Given the description of an element on the screen output the (x, y) to click on. 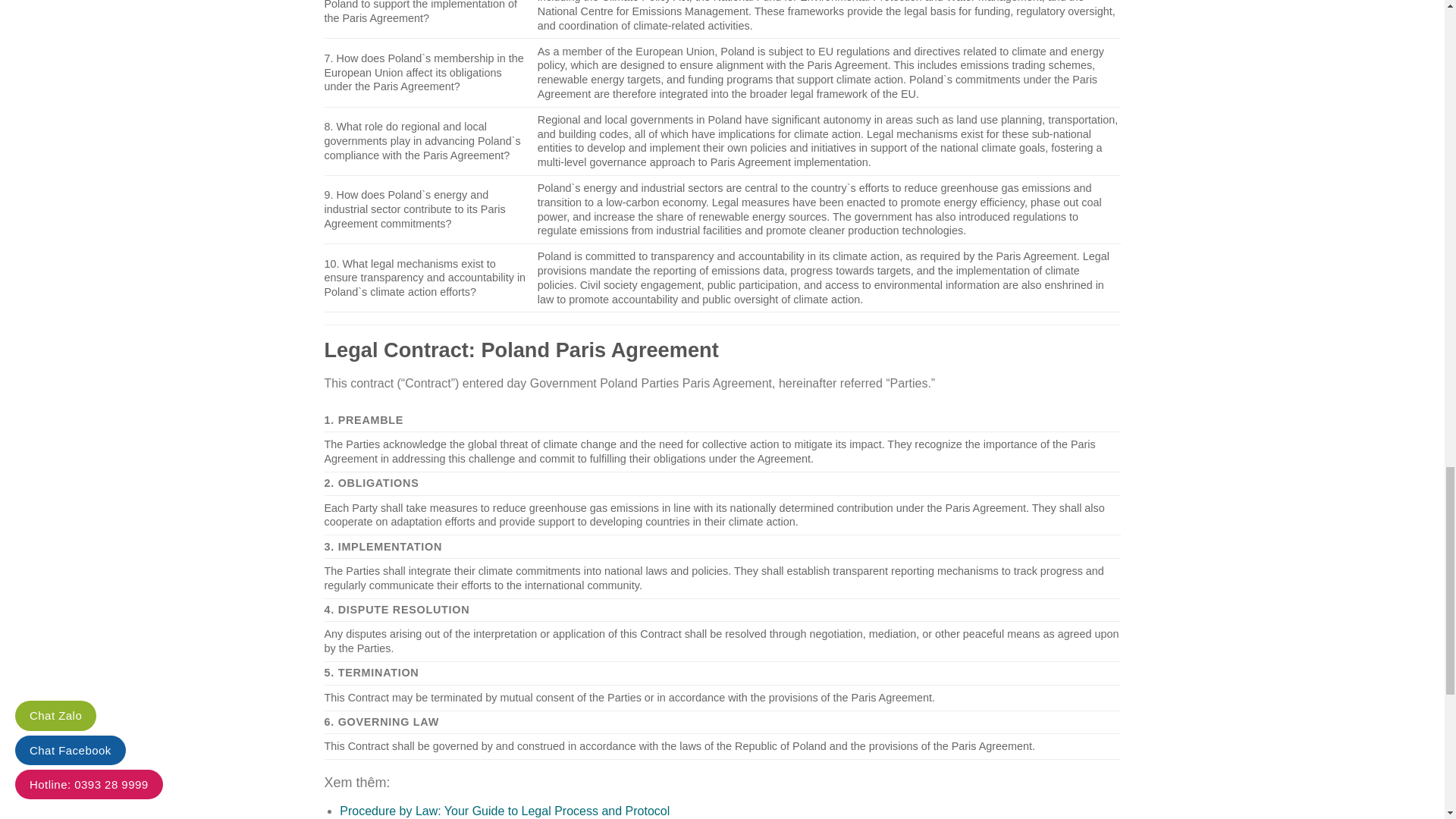
Procedure by Law: Your Guide to Legal Process and Protocol (504, 810)
